Given the description of an element on the screen output the (x, y) to click on. 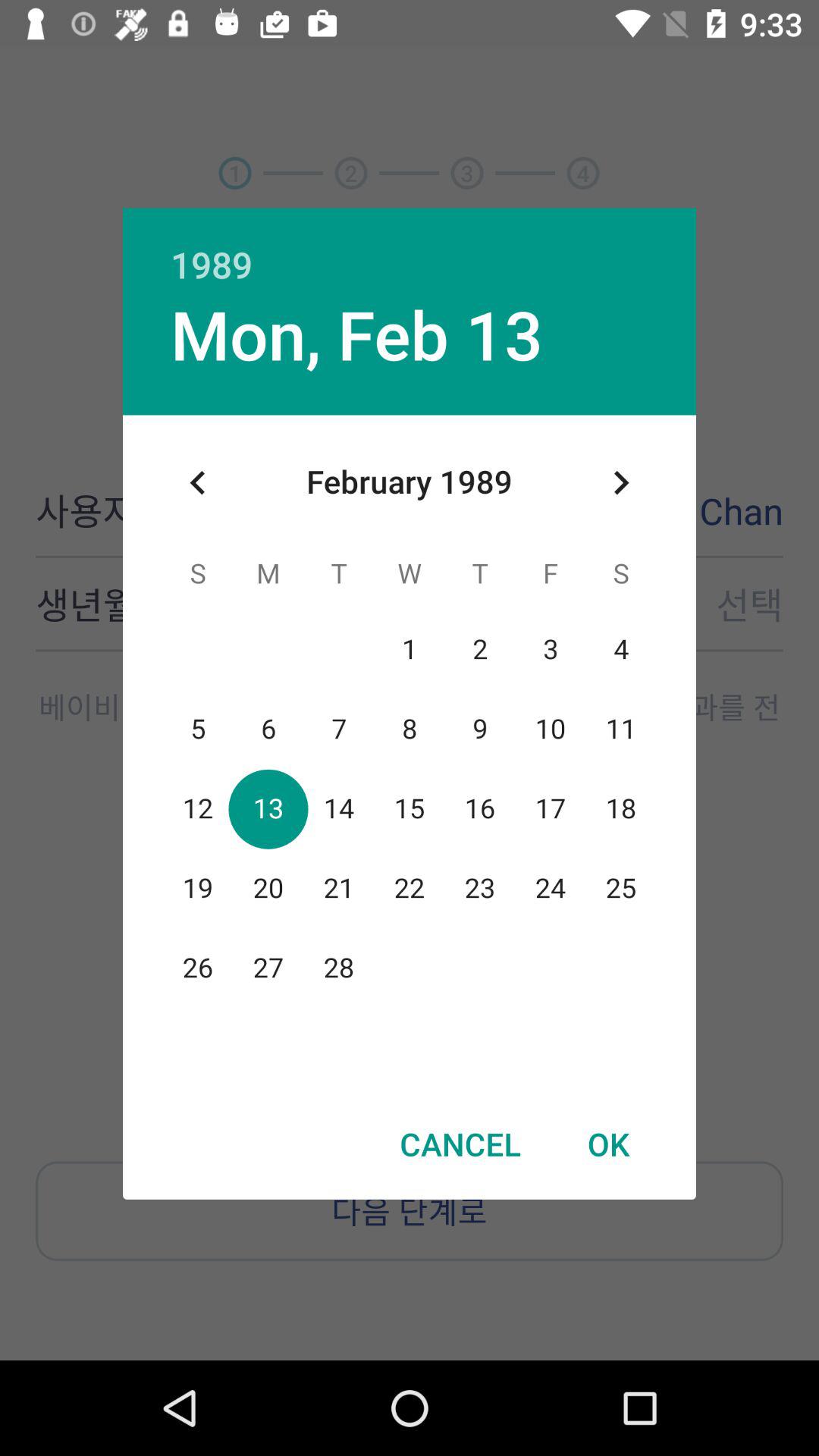
tap item to the right of cancel item (608, 1143)
